Given the description of an element on the screen output the (x, y) to click on. 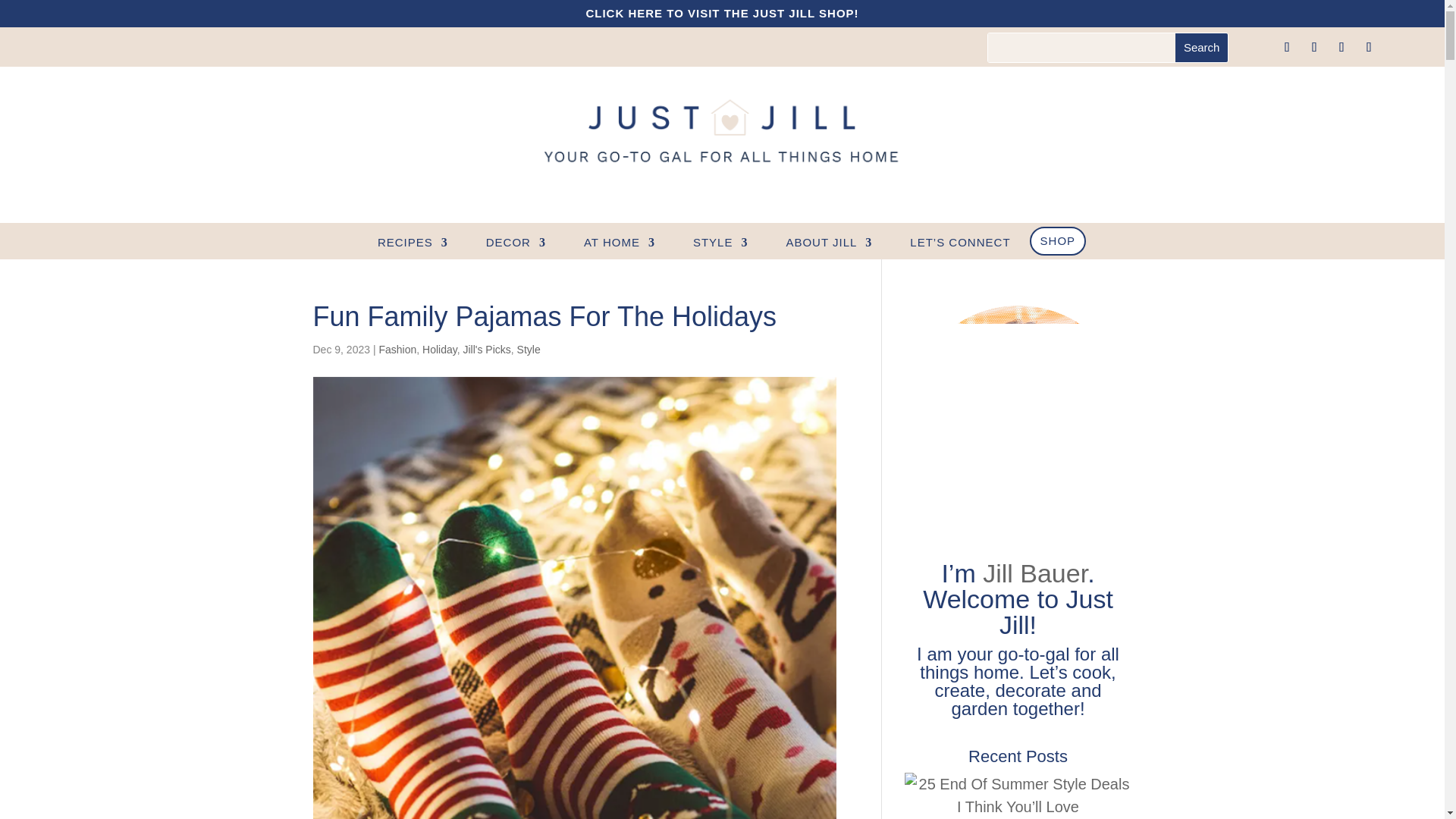
Jill Bauer Logo and Tagline (722, 133)
Search (1200, 47)
Follow on Instagram (1314, 46)
Follow on Pinterest (1341, 46)
Follow on Youtube (1369, 46)
Follow on Facebook (1287, 46)
AT HOME (619, 246)
SHOP (1057, 240)
DECOR (516, 246)
RECIPES (412, 246)
